Given the description of an element on the screen output the (x, y) to click on. 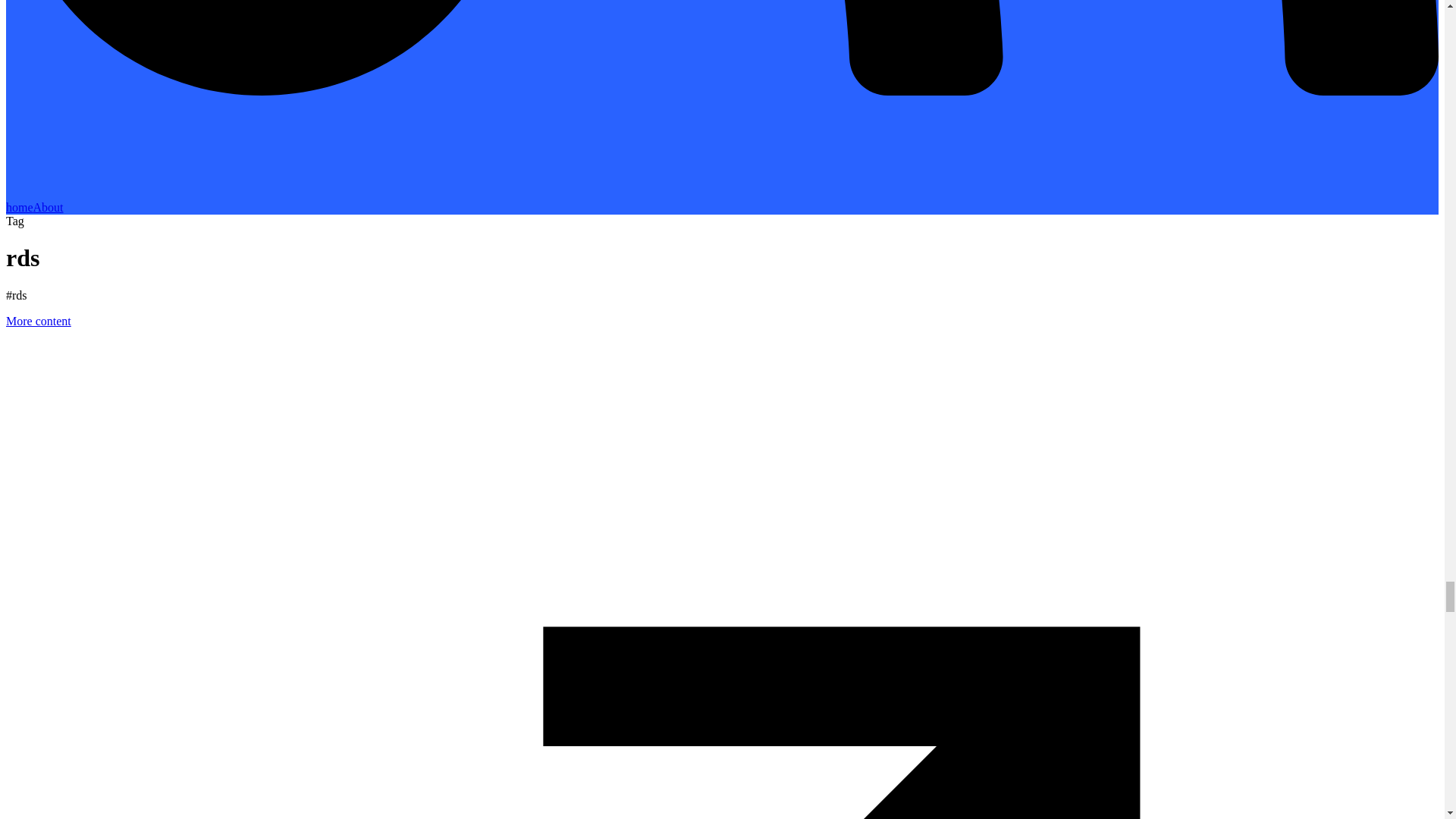
home (19, 206)
About (48, 206)
